Given the description of an element on the screen output the (x, y) to click on. 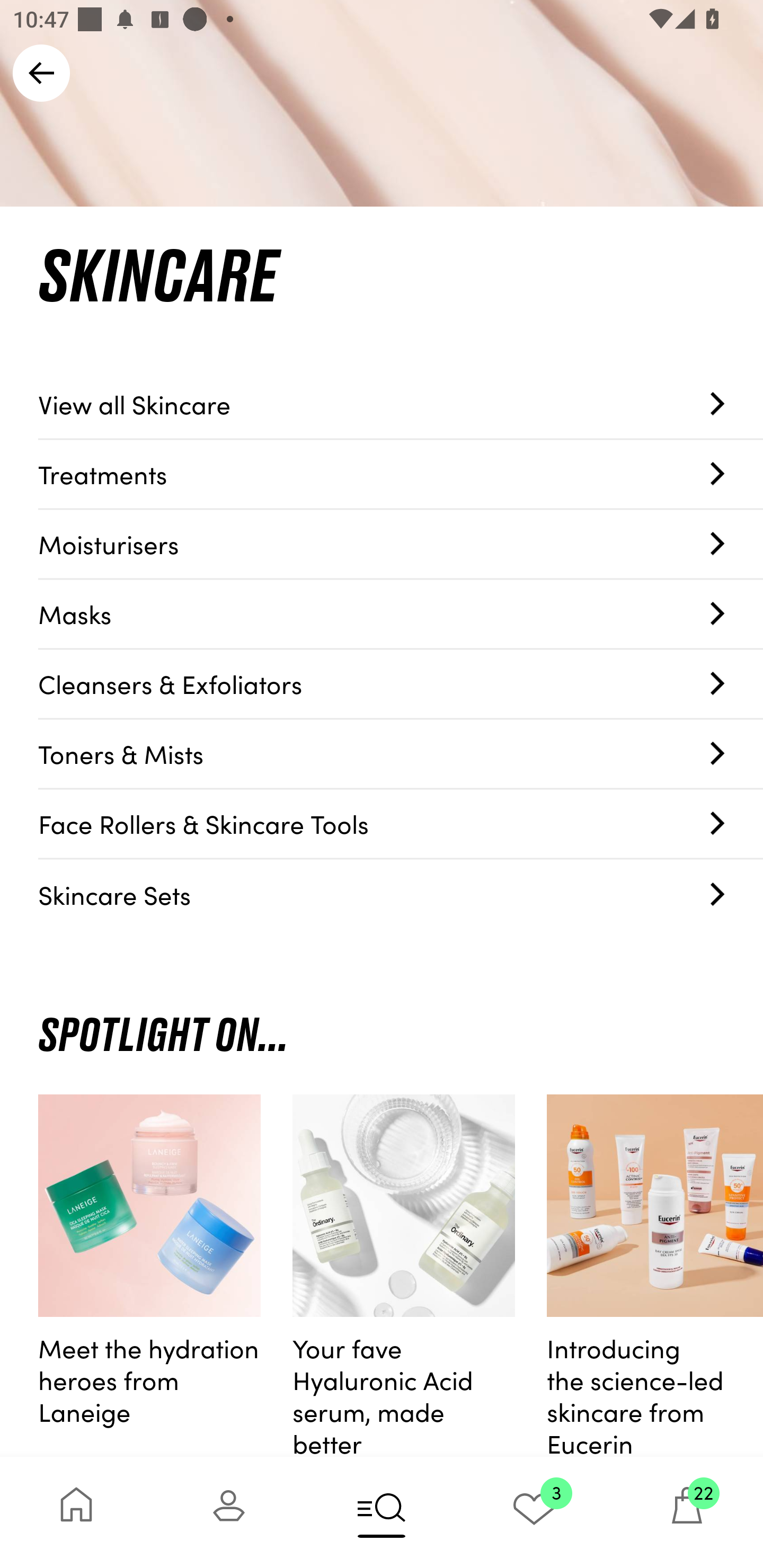
View all Skincare (400, 404)
Treatments (400, 474)
Moisturisers (400, 544)
Masks (400, 614)
Cleansers & Exfoliators (400, 684)
Toners & Mists (400, 753)
Face Rollers & Skincare Tools (400, 823)
Skincare Sets (400, 894)
Meet the hydration heroes from Laneige (149, 1275)
Your fave Hyaluronic Acid serum, made better (403, 1275)
Introducing the science-led skincare from Eucerin (655, 1275)
3 (533, 1512)
22 (686, 1512)
